Given the description of an element on the screen output the (x, y) to click on. 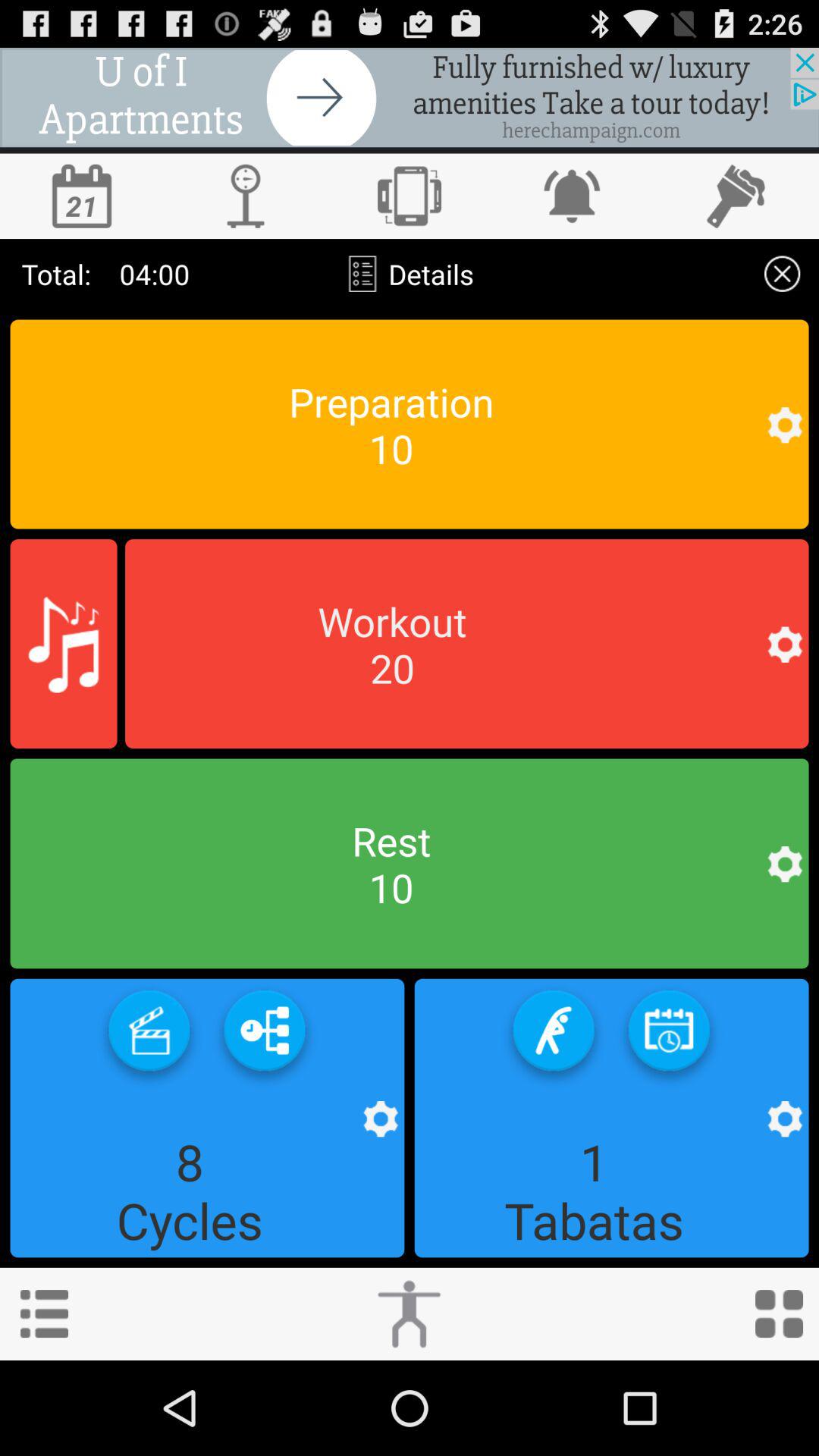
screen rotate (409, 195)
